Given the description of an element on the screen output the (x, y) to click on. 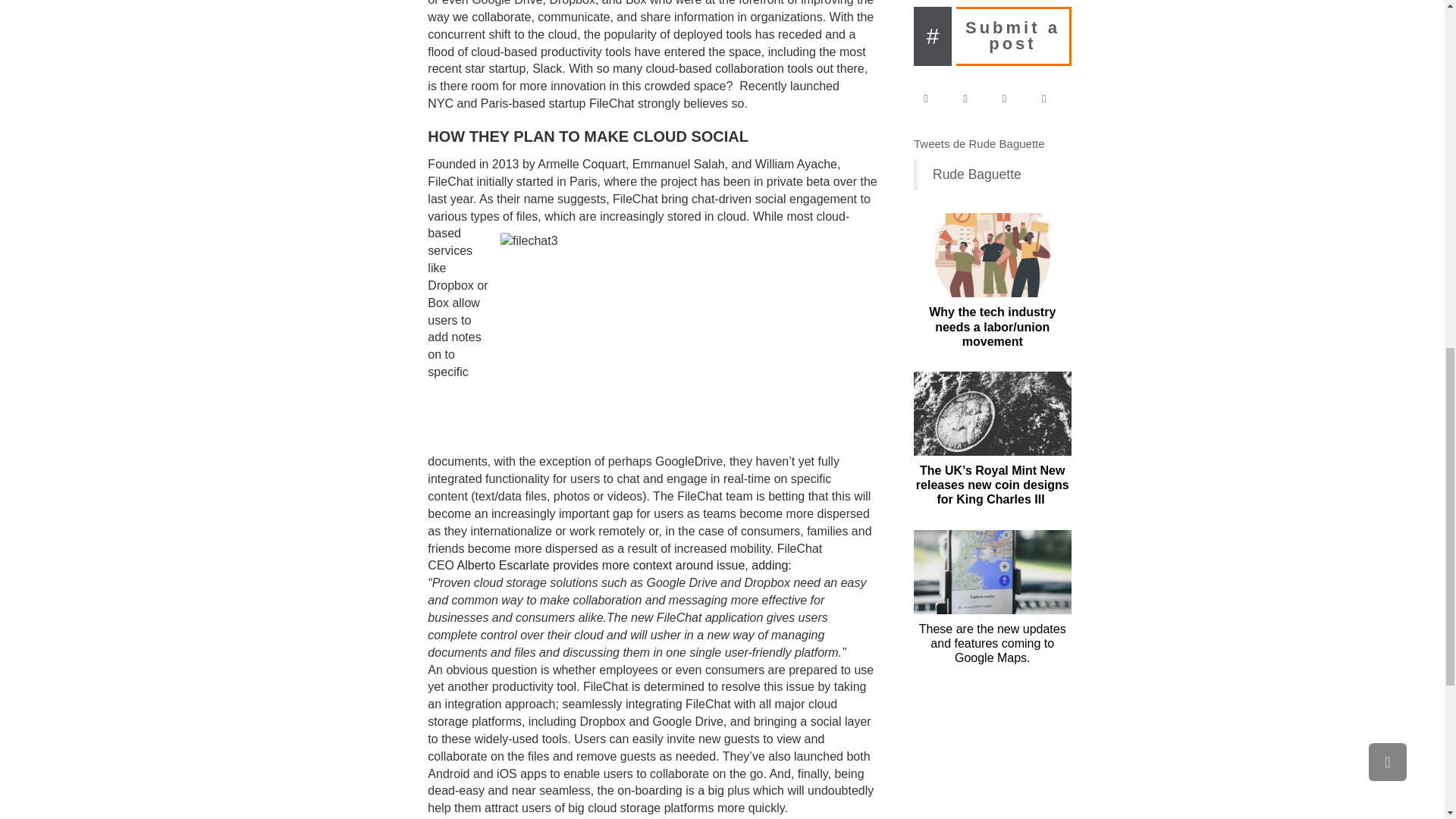
RSS (1050, 98)
LinkedIn (1011, 98)
Twitter (972, 98)
Rude Baguette (977, 174)
Facebook (932, 98)
Tweets de Rude Baguette (979, 143)
